Given the description of an element on the screen output the (x, y) to click on. 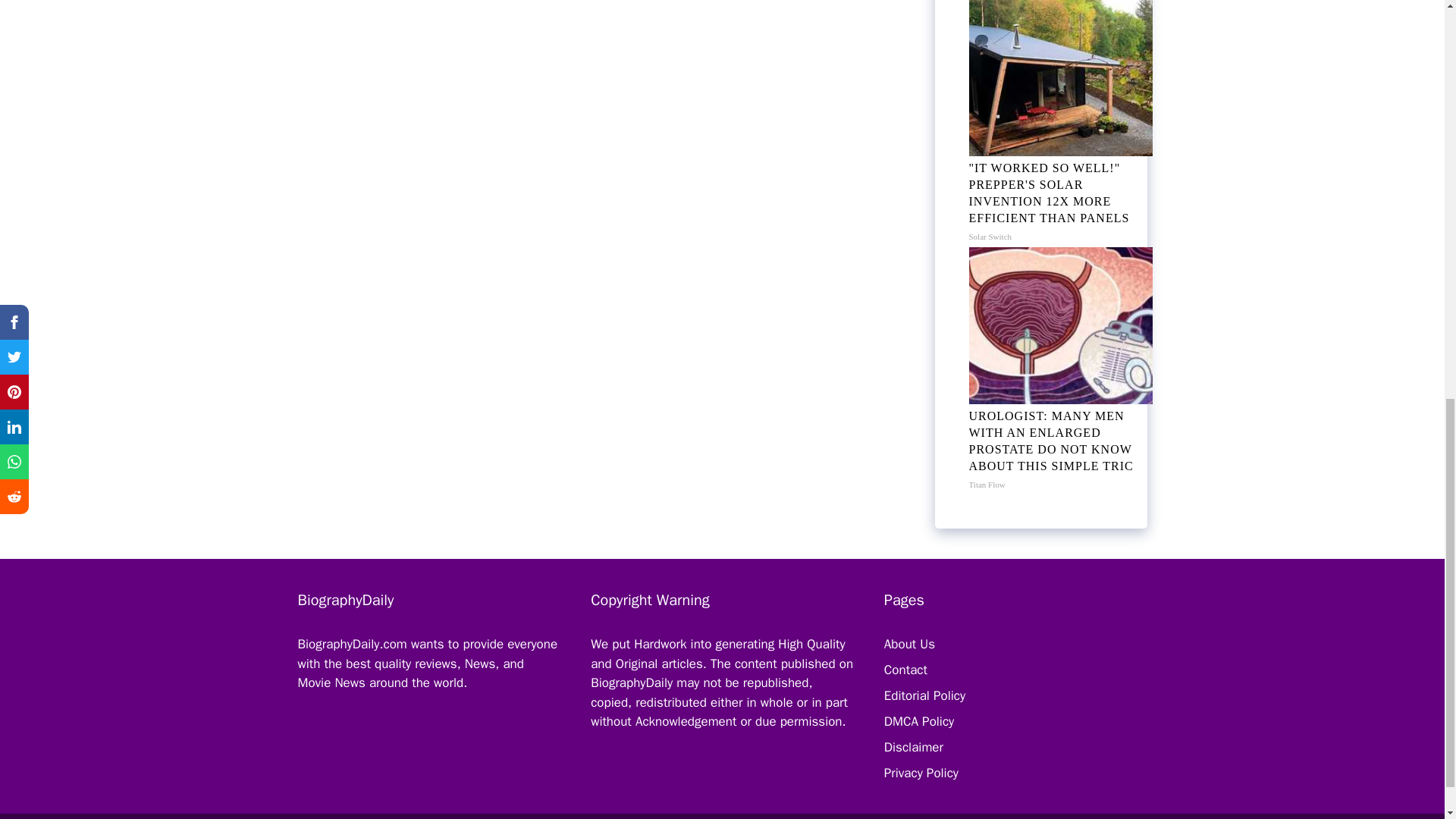
Editorial Policy (924, 695)
DMCA Policy (918, 721)
Contact (905, 669)
Privacy Policy (920, 772)
About Us (908, 643)
Disclaimer (913, 747)
